Given the description of an element on the screen output the (x, y) to click on. 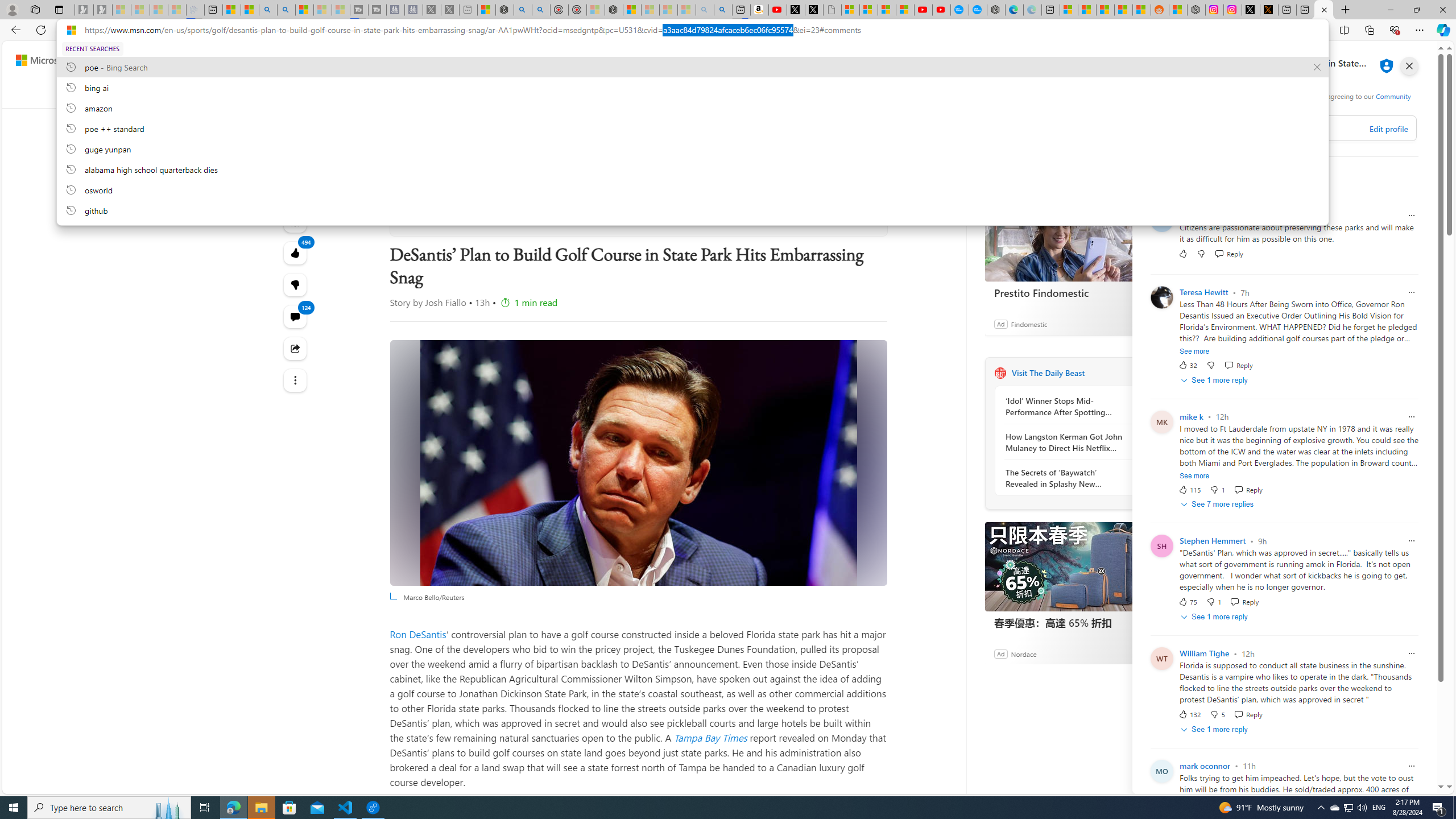
MMA / UFC (910, 92)
75 Like (1187, 601)
Findomestic (1028, 323)
Ad Choice (1142, 653)
Personalize (1128, 92)
Go to publisher's site (863, 215)
32 Like (1187, 364)
Cricket (707, 92)
guge yunpan, recent searches from history (691, 148)
Web search (520, 60)
